Given the description of an element on the screen output the (x, y) to click on. 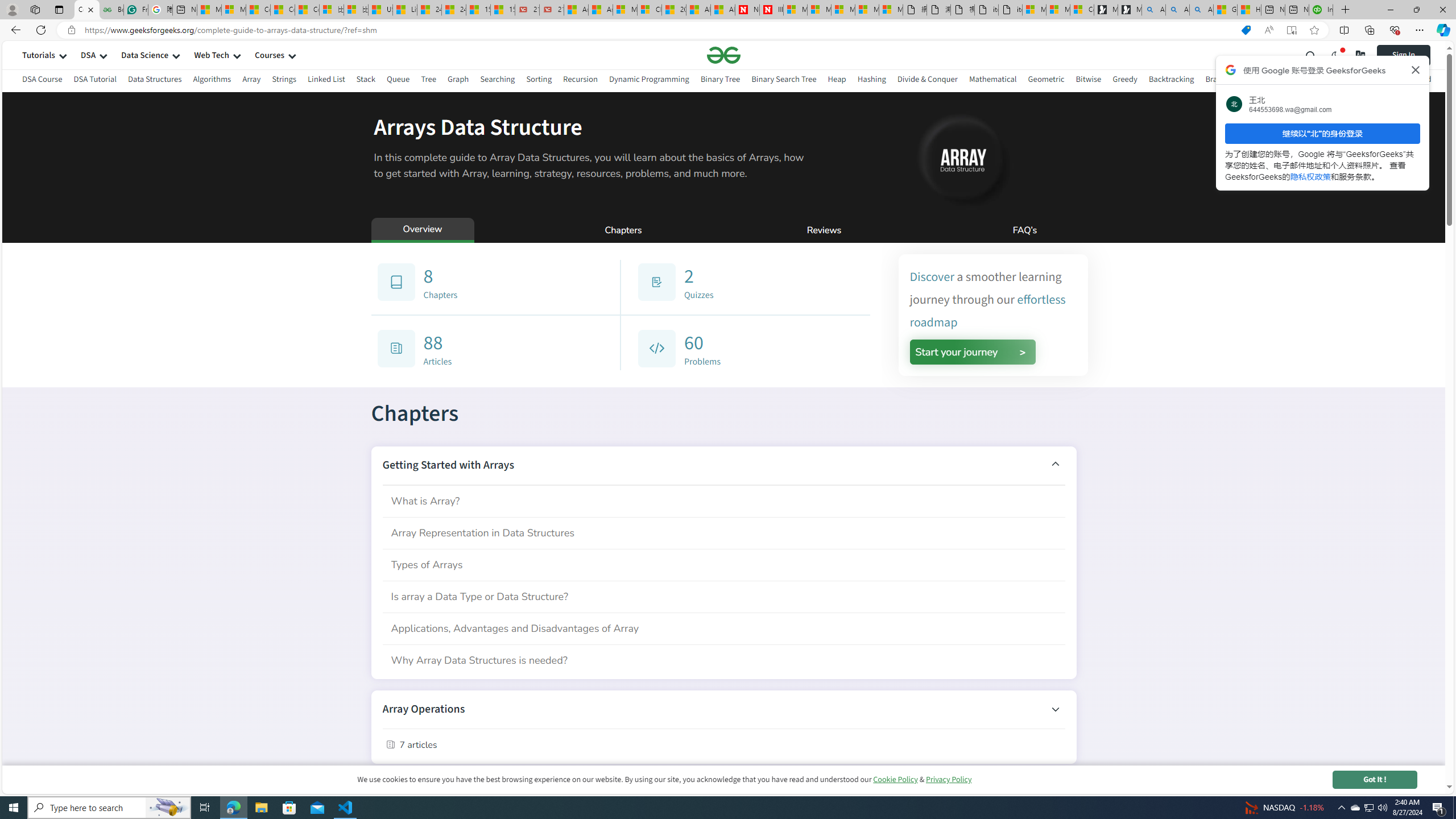
Array Representation in Data Structures (723, 532)
Bitwise (1089, 79)
Class: header-main__left-list-item gcse-search_li p-relative (1311, 54)
itconcepthk.com/projector_solutions.mp4 (1009, 9)
DSA Course (42, 80)
Sorting (538, 79)
Data Structures (154, 79)
Consumer Health Data Privacy Policy (1082, 9)
Privacy Policy (949, 779)
Searching (497, 80)
DSA (88, 55)
Logo (723, 54)
